Given the description of an element on the screen output the (x, y) to click on. 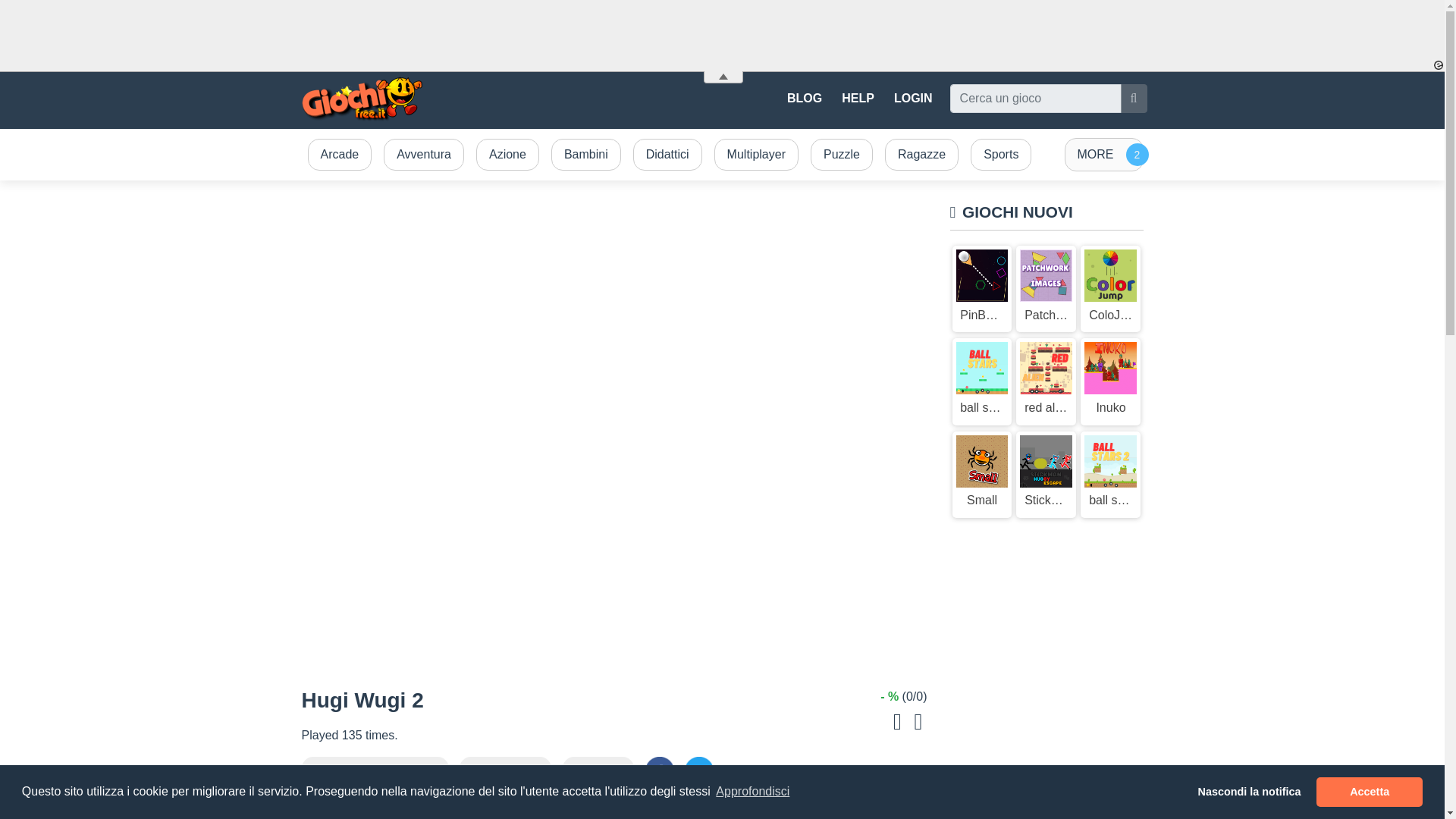
Arcade (339, 154)
Fullscreen (510, 771)
Multiplayer (756, 154)
Avventura (423, 154)
Didattici (667, 154)
Approfondisci (752, 791)
PinBall Brick Mania (981, 288)
Small (981, 474)
BLOG (804, 98)
Ragazze (921, 154)
Open in new window (380, 771)
Bambini (585, 154)
HELP (857, 98)
Stickman Huggy Escape (1045, 474)
Patchwork images (1045, 288)
